Given the description of an element on the screen output the (x, y) to click on. 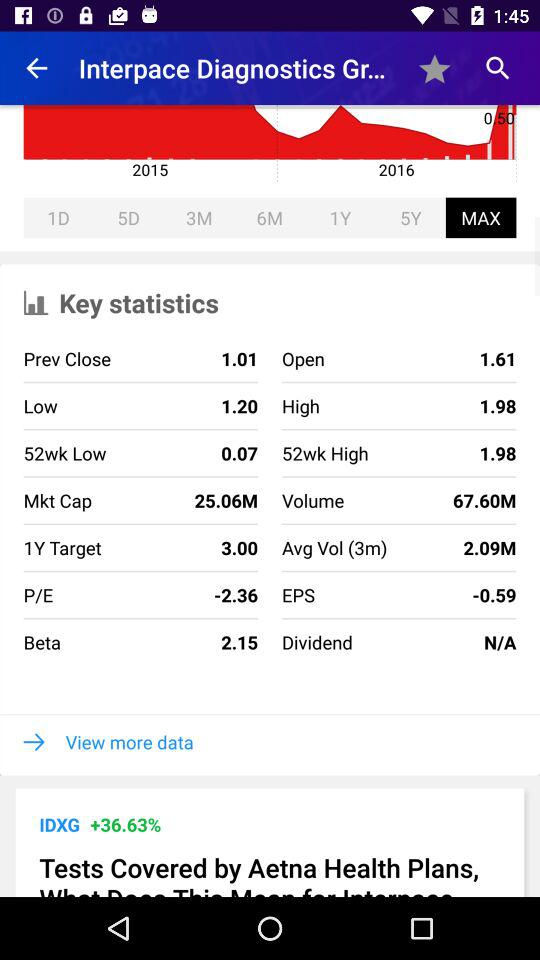
jump until 6m item (269, 217)
